Given the description of an element on the screen output the (x, y) to click on. 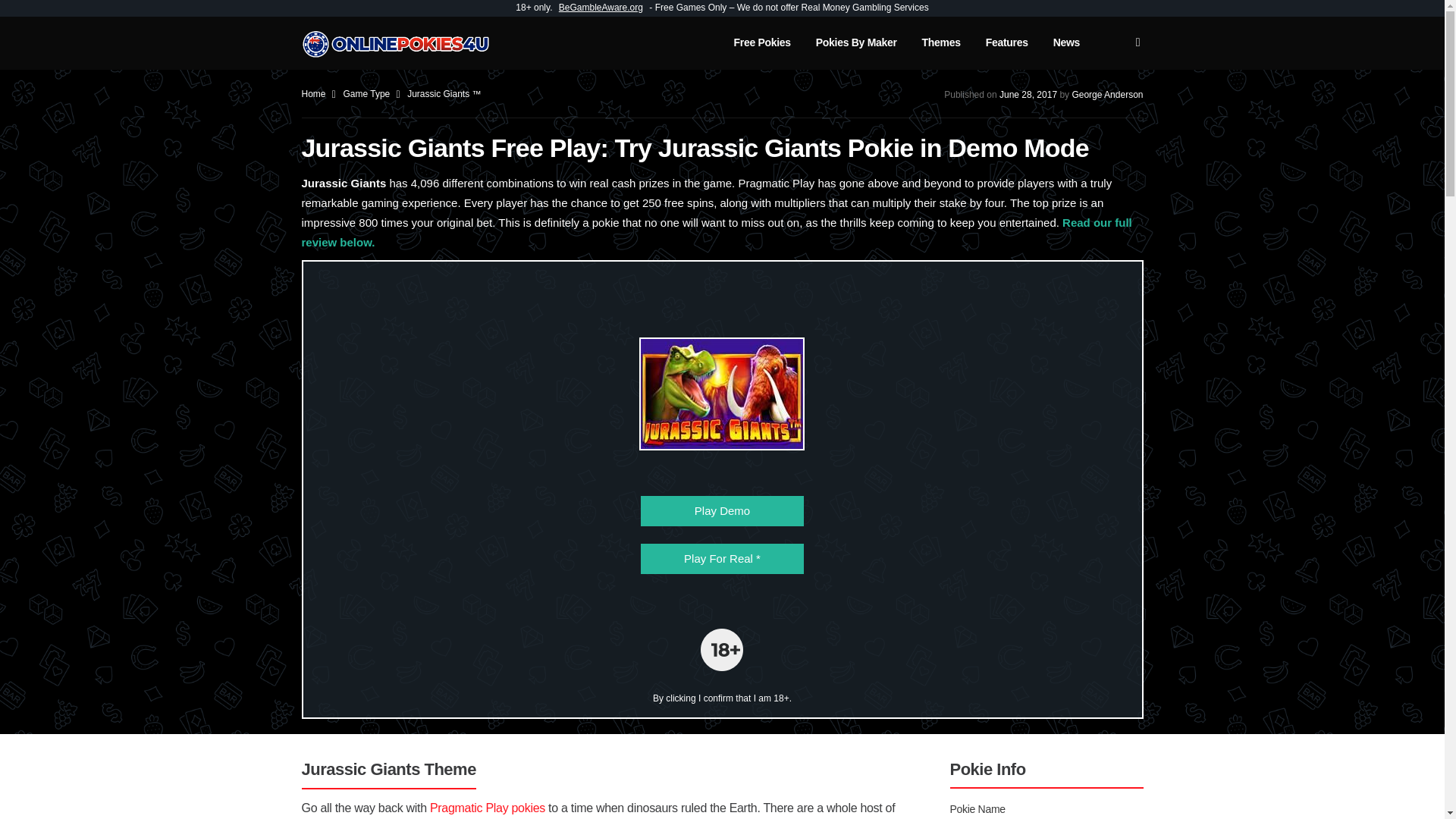
BeGambleAware.org (600, 7)
Pragmatic Play pokies (486, 807)
George Anderson (1106, 94)
Home (315, 93)
Read our full review below. (716, 232)
Features (1006, 50)
Themes (940, 50)
Free Pokies (761, 50)
Game Type (366, 93)
Play Demo (721, 511)
Pokies By Maker (855, 50)
